Given the description of an element on the screen output the (x, y) to click on. 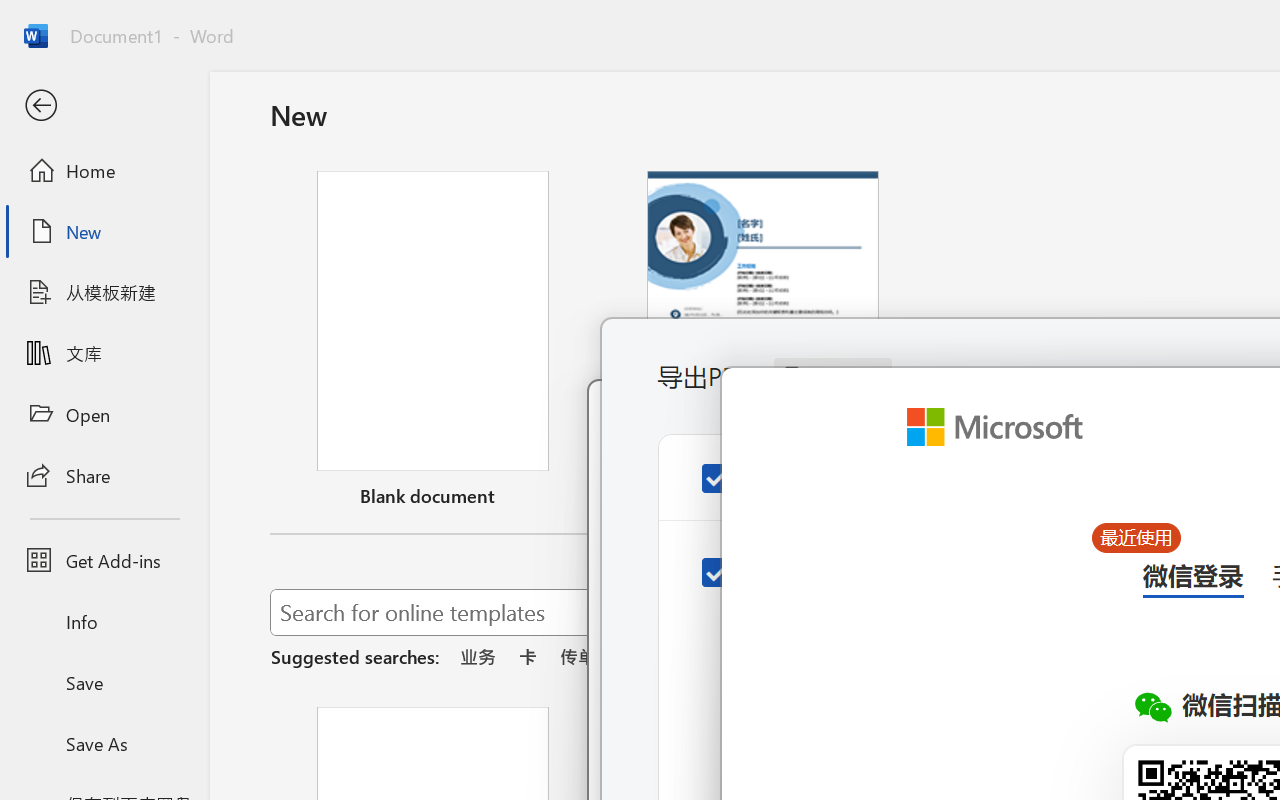
New (104, 231)
